Given the description of an element on the screen output the (x, y) to click on. 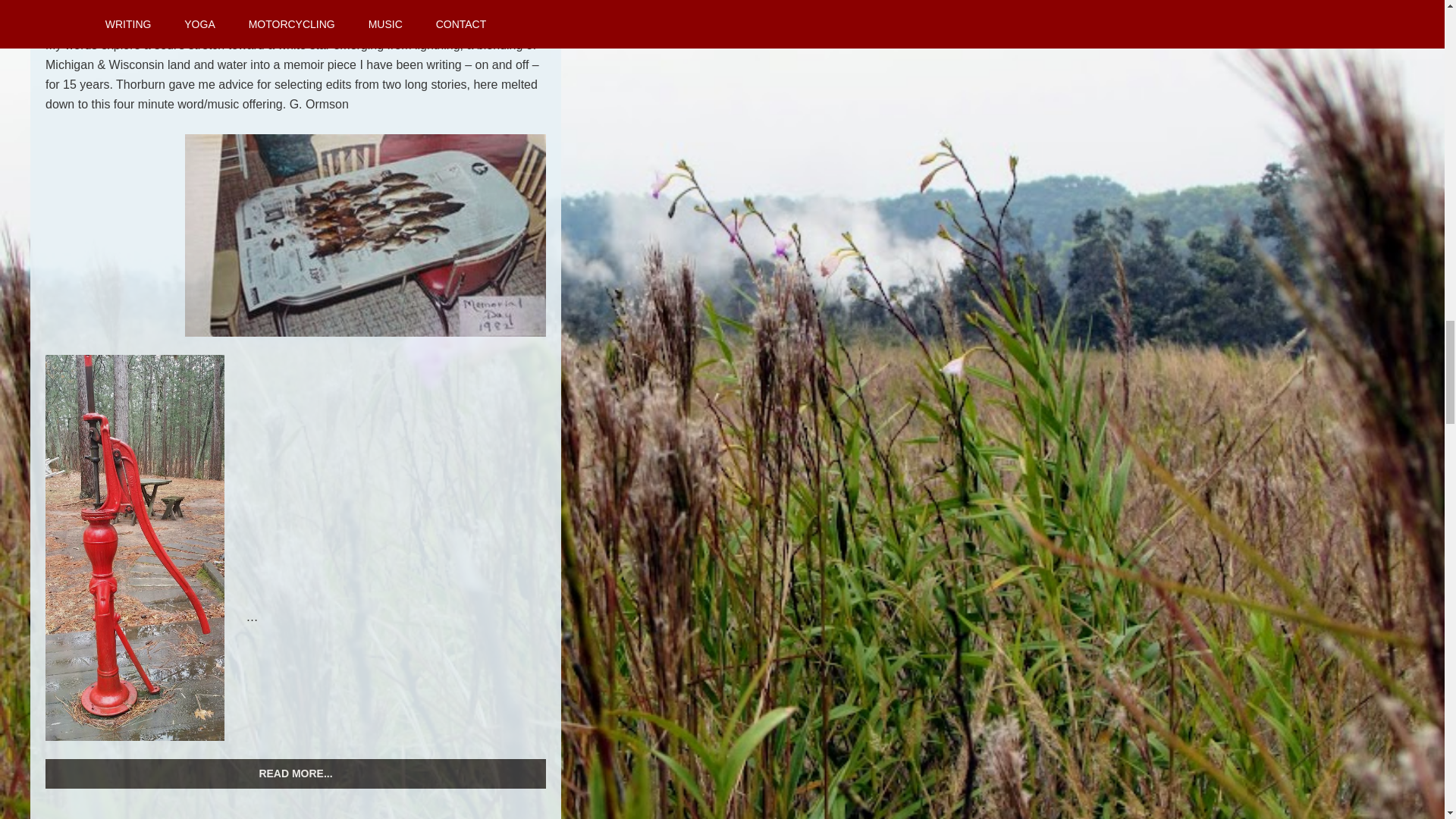
READ MORE... (295, 773)
